Given the description of an element on the screen output the (x, y) to click on. 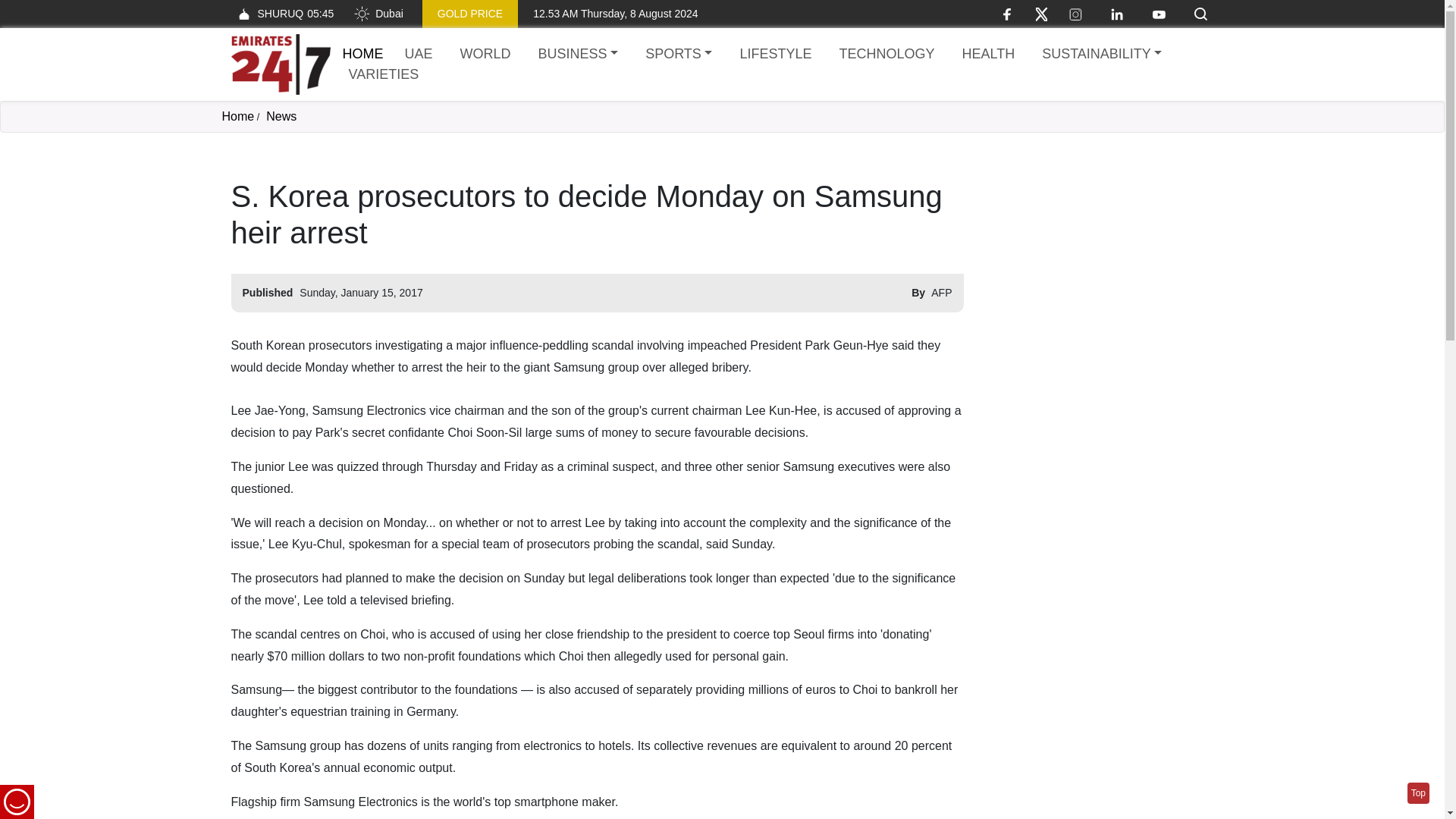
GOLD PRICE (470, 13)
Dubai (378, 13)
Go to top (1418, 792)
SPORTS (678, 54)
VARIETIES (383, 74)
HEALTH (987, 54)
WORLD (485, 54)
Home (280, 64)
SUSTAINABILITY (1101, 54)
BUSINESS (578, 54)
Home (237, 115)
TECHNOLOGY (886, 54)
UAE (418, 54)
HOME (363, 53)
Home (363, 53)
